Given the description of an element on the screen output the (x, y) to click on. 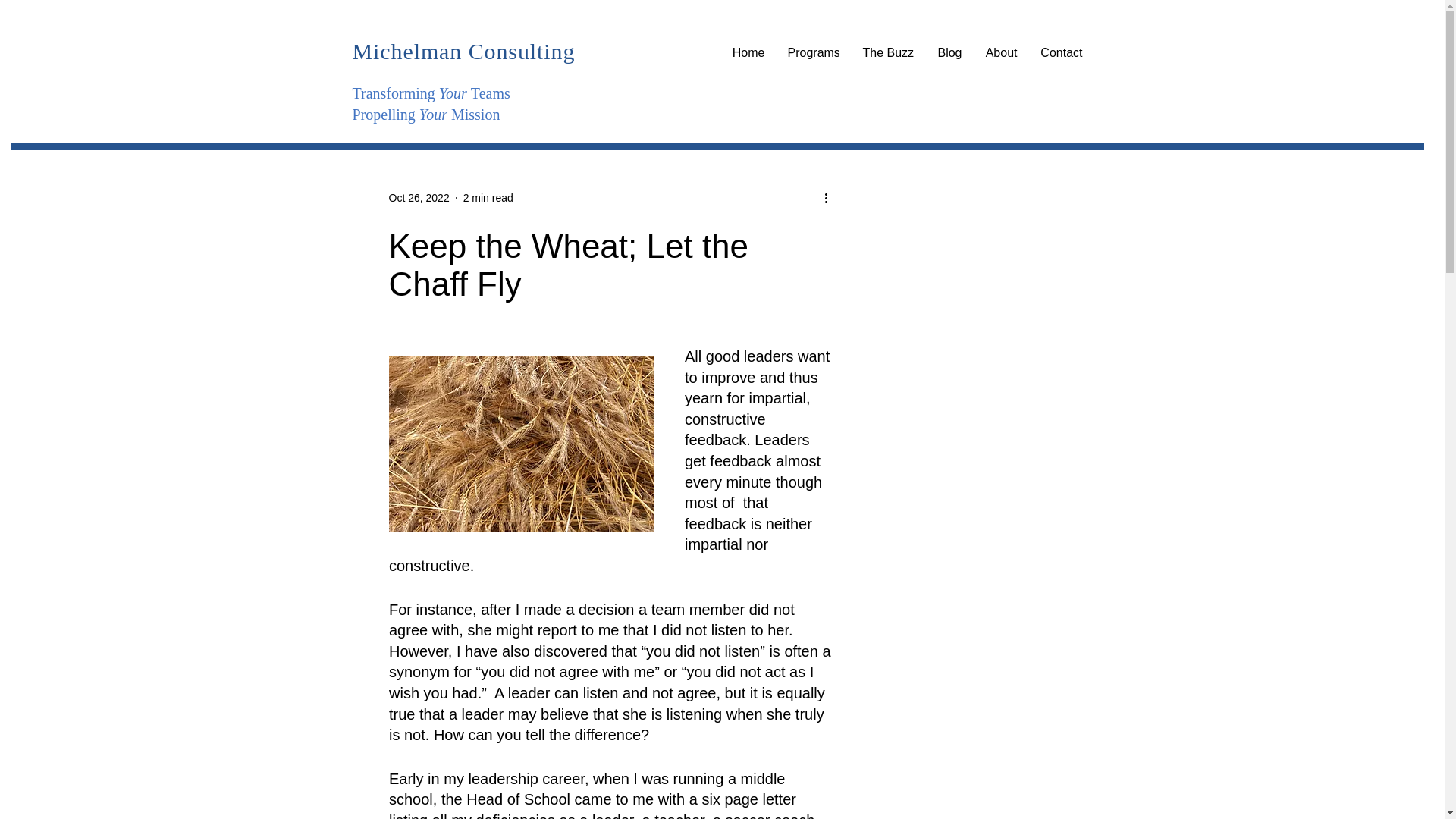
Contact (1060, 53)
The Buzz (887, 53)
Michelman Consulting (463, 50)
About (1001, 53)
Programs (813, 53)
Blog (949, 53)
2 min read (488, 196)
Home (748, 53)
Oct 26, 2022 (418, 196)
